Given the description of an element on the screen output the (x, y) to click on. 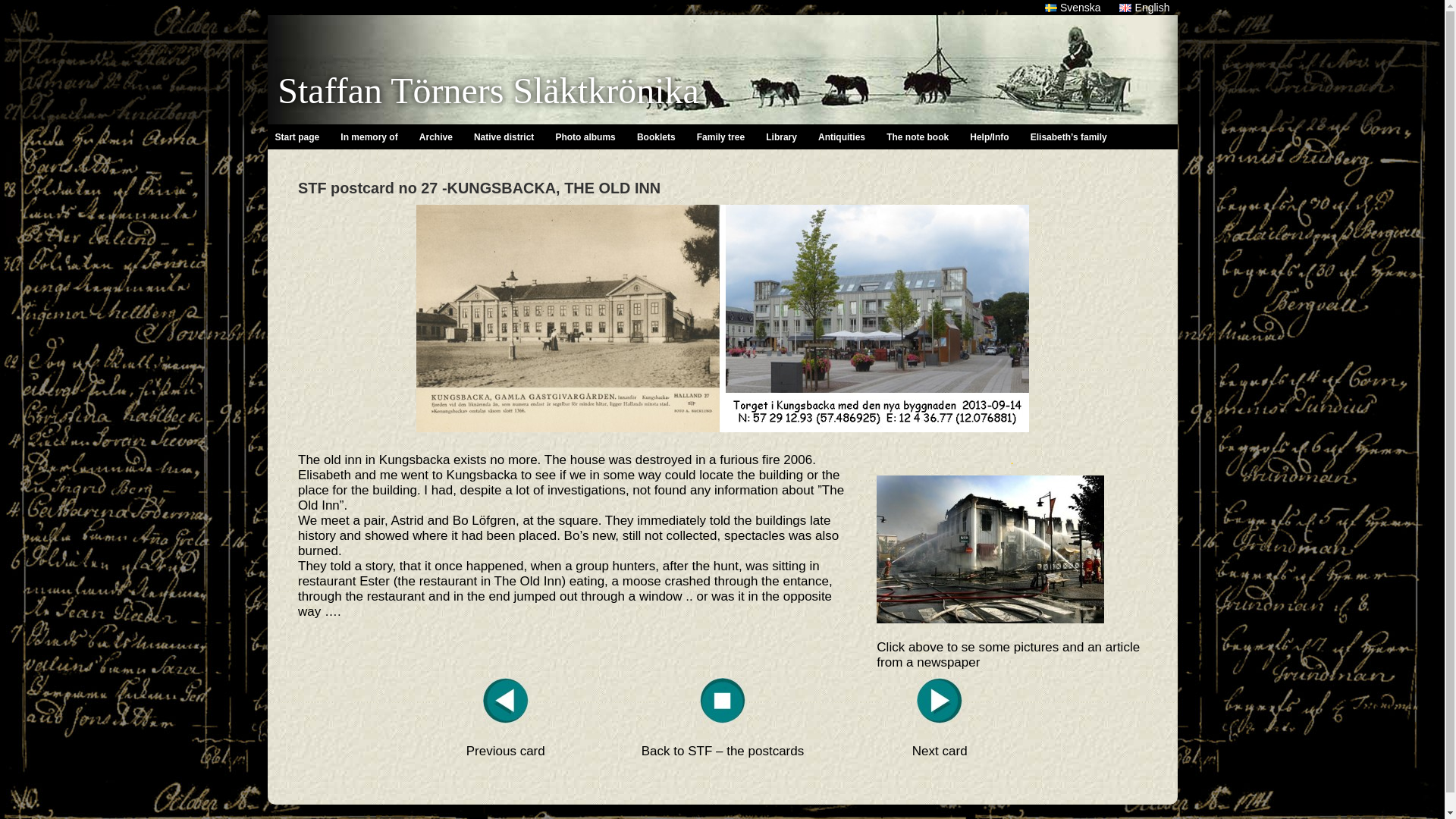
Photo albums (585, 137)
Start page (296, 137)
Tryckknapp bak2 (505, 700)
Archive (436, 137)
In memory of (369, 137)
Svenska (1072, 7)
Tryckknapp stopp2 (722, 700)
English (1144, 7)
Native district (503, 137)
27 Branden HD (989, 549)
Tryckknapp fram2 (939, 700)
